Given the description of an element on the screen output the (x, y) to click on. 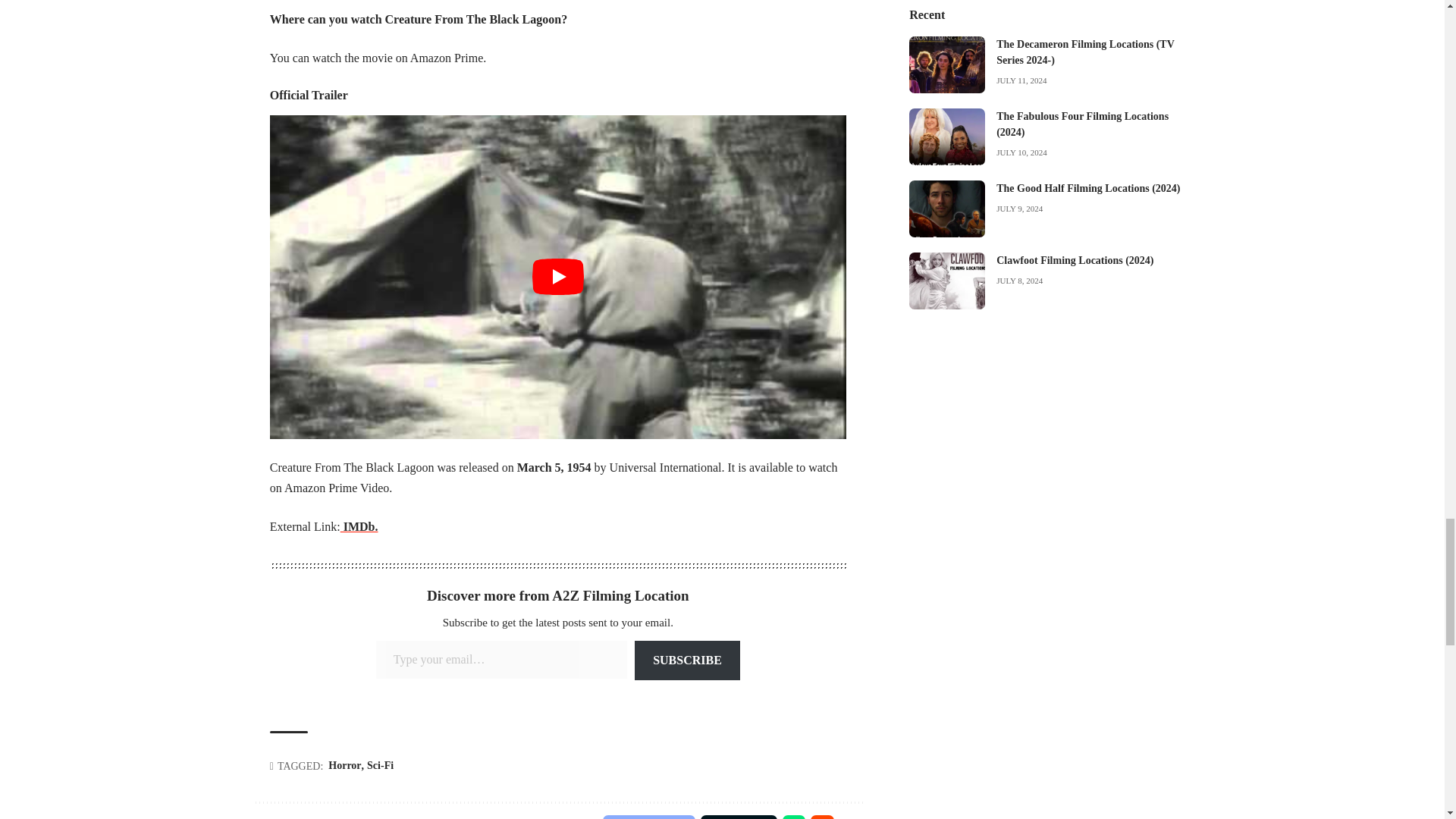
Please fill in this field. (501, 659)
